Given the description of an element on the screen output the (x, y) to click on. 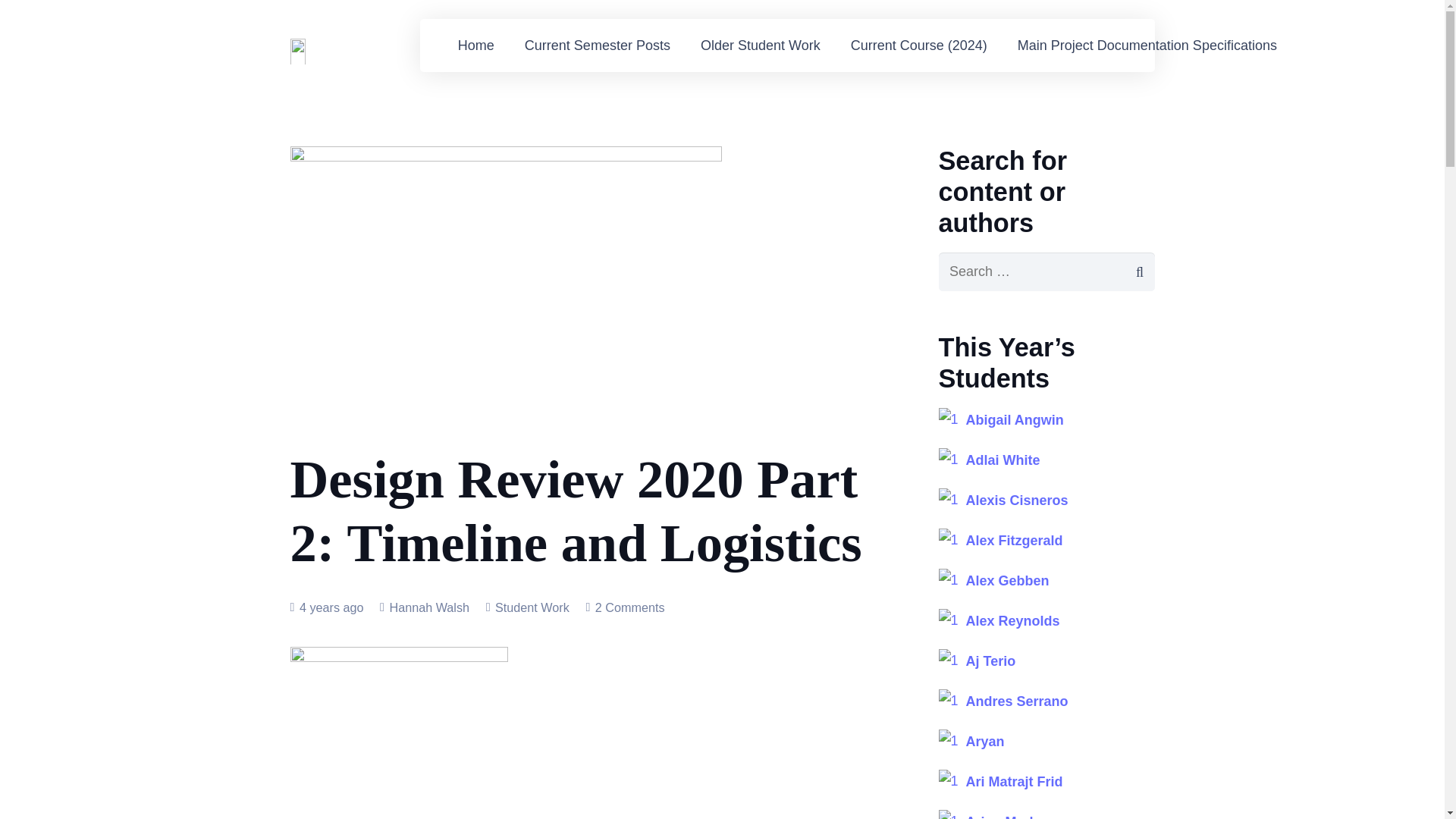
Current Semester Posts (597, 45)
Home (475, 45)
Older Student Work (760, 45)
2 Comments (630, 607)
